Given the description of an element on the screen output the (x, y) to click on. 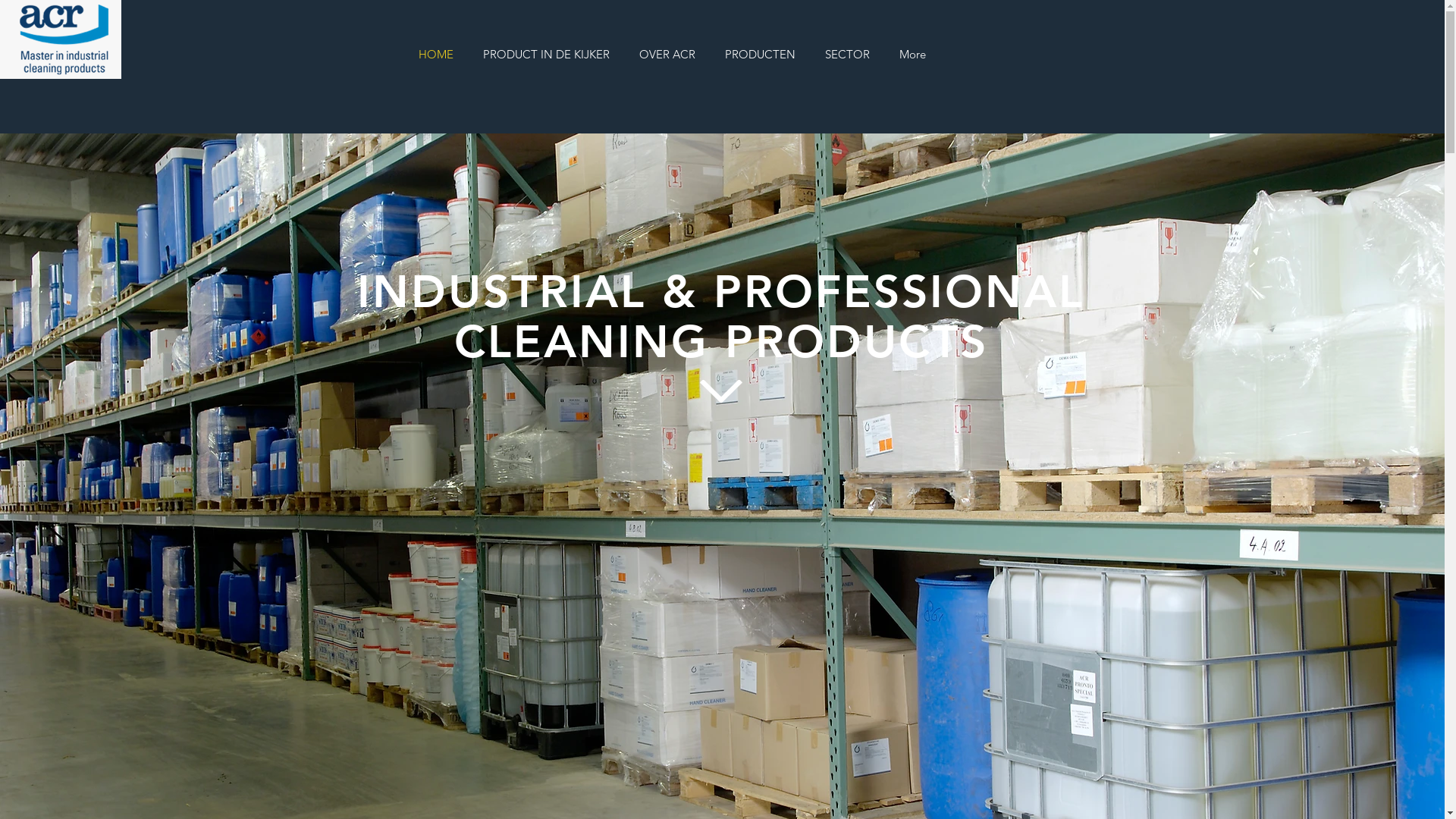
HOME Element type: text (435, 54)
PRODUCTEN Element type: text (759, 54)
CONTACT Element type: text (1034, 29)
Site Search Element type: hover (720, 113)
OVER ACR Element type: text (667, 54)
PRODUCT IN DE KIJKER Element type: text (546, 54)
SECTOR Element type: text (764, 29)
HOME Element type: text (369, 29)
REFERENTIES Element type: text (852, 29)
PRODUCTEN Element type: text (678, 29)
VACATURES Element type: text (947, 29)
OVER ACR Element type: text (588, 29)
PRODUCT IN DE KIJKER Element type: text (474, 29)
SECTOR Element type: text (846, 54)
